Given the description of an element on the screen output the (x, y) to click on. 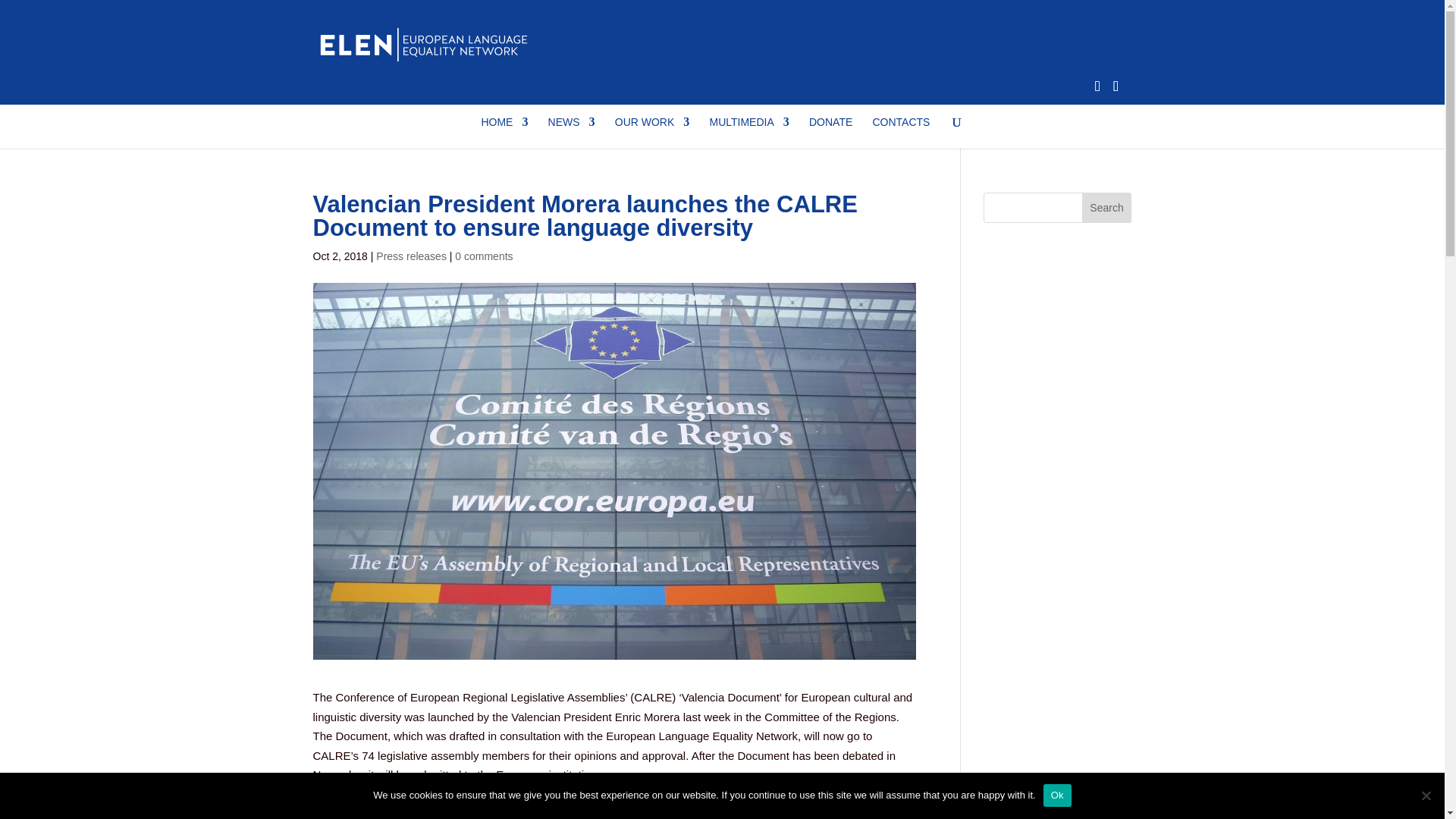
OUR WORK (652, 132)
No (1425, 795)
CONTACTS (901, 132)
MULTIMEDIA (749, 132)
Search (1106, 207)
HOME (503, 132)
DONATE (830, 132)
NEWS (571, 132)
